Given the description of an element on the screen output the (x, y) to click on. 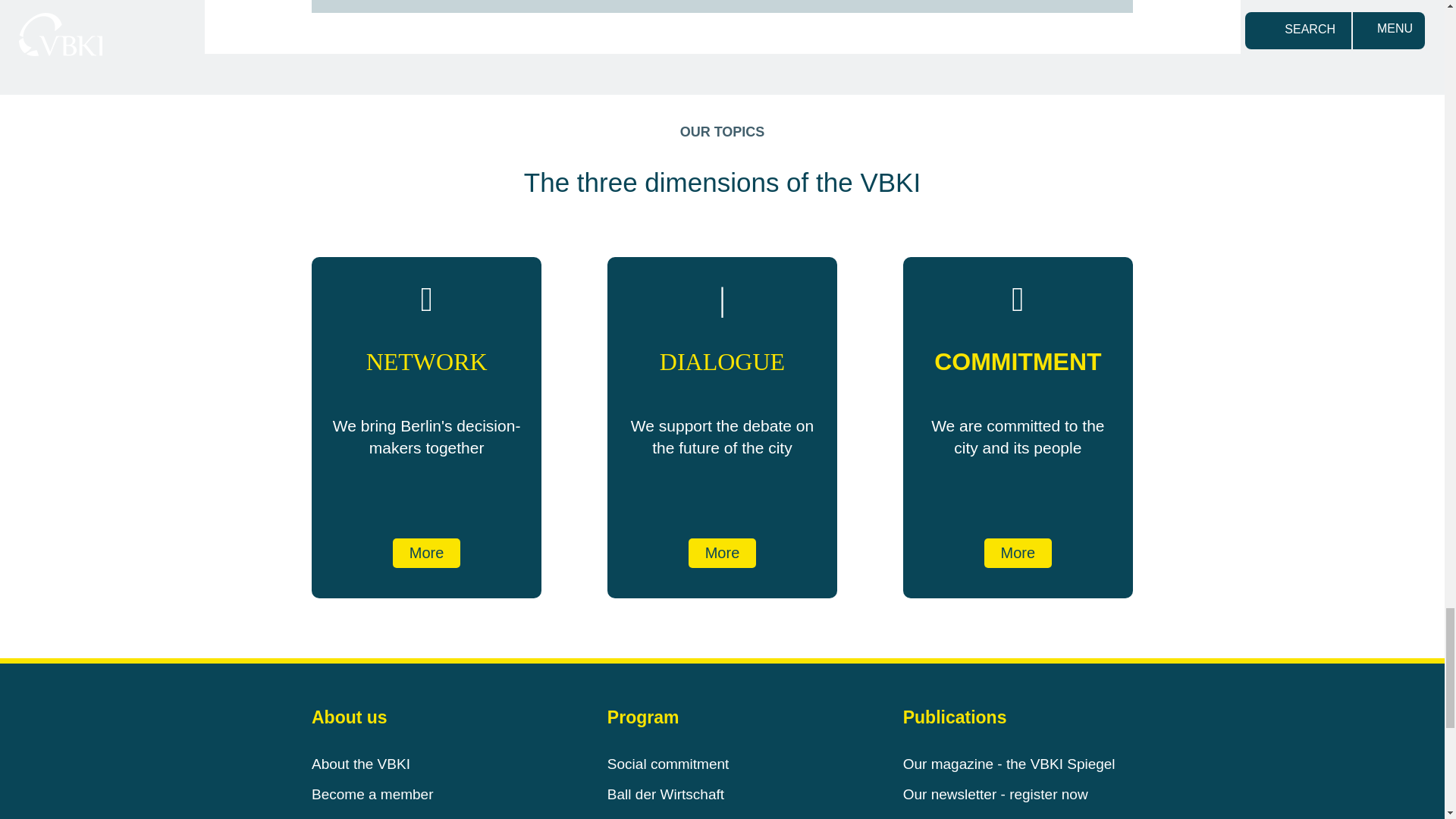
About the VBKI (360, 763)
Social commitment (668, 763)
Ball der Wirtschaft (665, 794)
VBKI-Sommerfest (664, 817)
Our committees (362, 817)
Our picture galleries (967, 817)
More (427, 553)
More (1018, 553)
Our magazine - the VBKI Spiegel (1008, 763)
Our newsletter - register now (994, 794)
Become a member (372, 794)
More (722, 553)
